Given the description of an element on the screen output the (x, y) to click on. 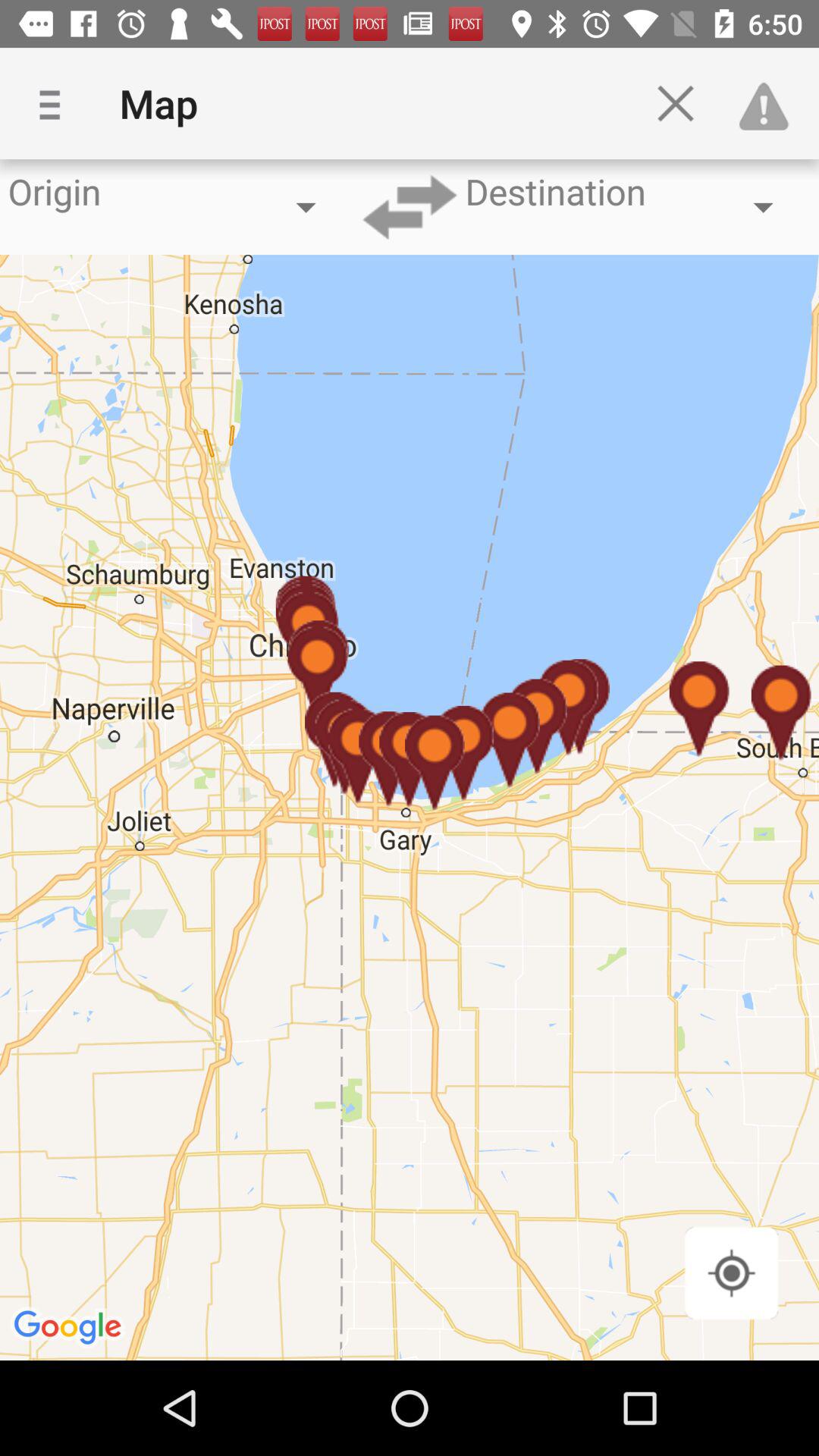
toggle destination arrow (409, 206)
